Given the description of an element on the screen output the (x, y) to click on. 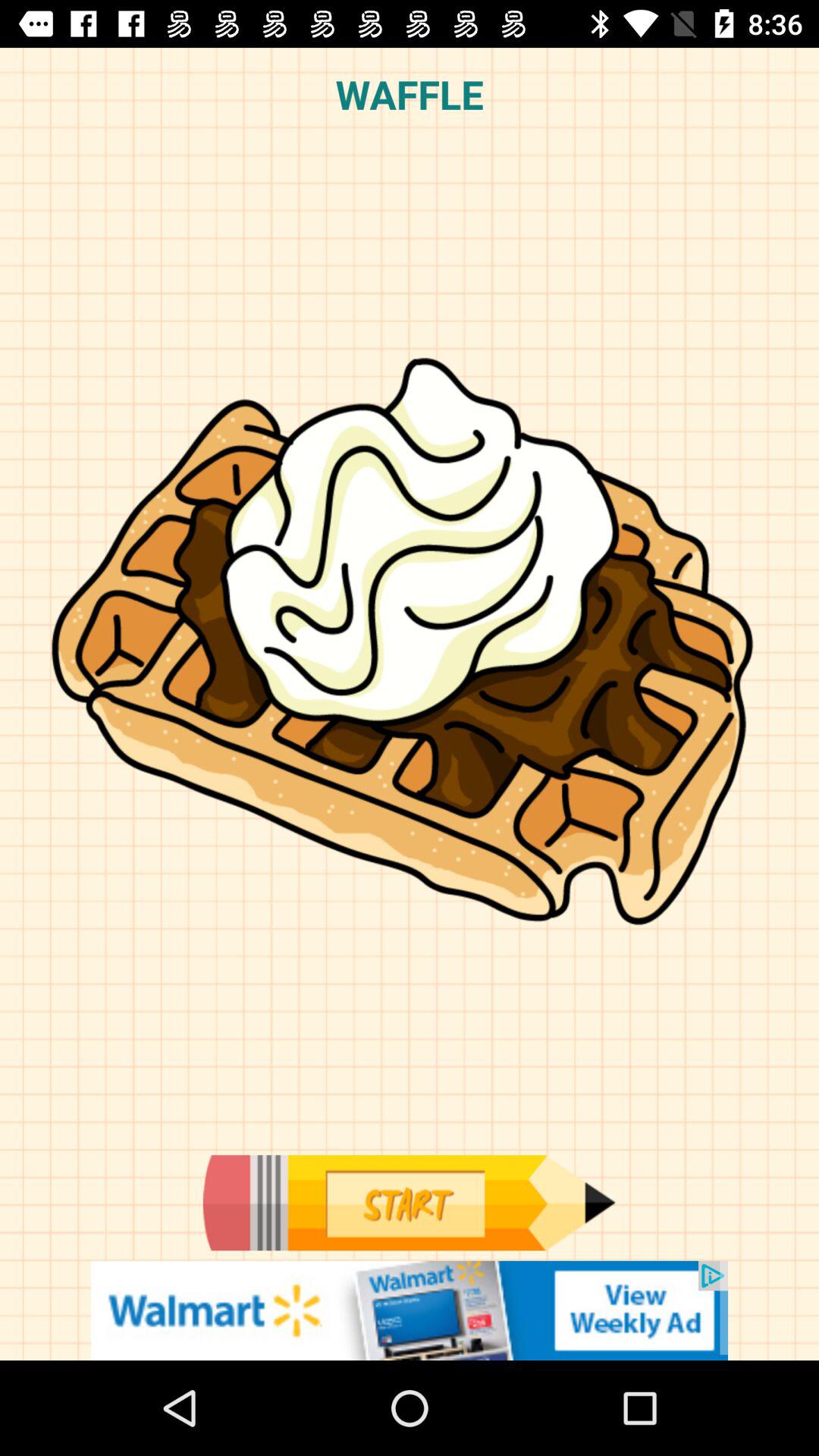
go to next stage (409, 1202)
